Given the description of an element on the screen output the (x, y) to click on. 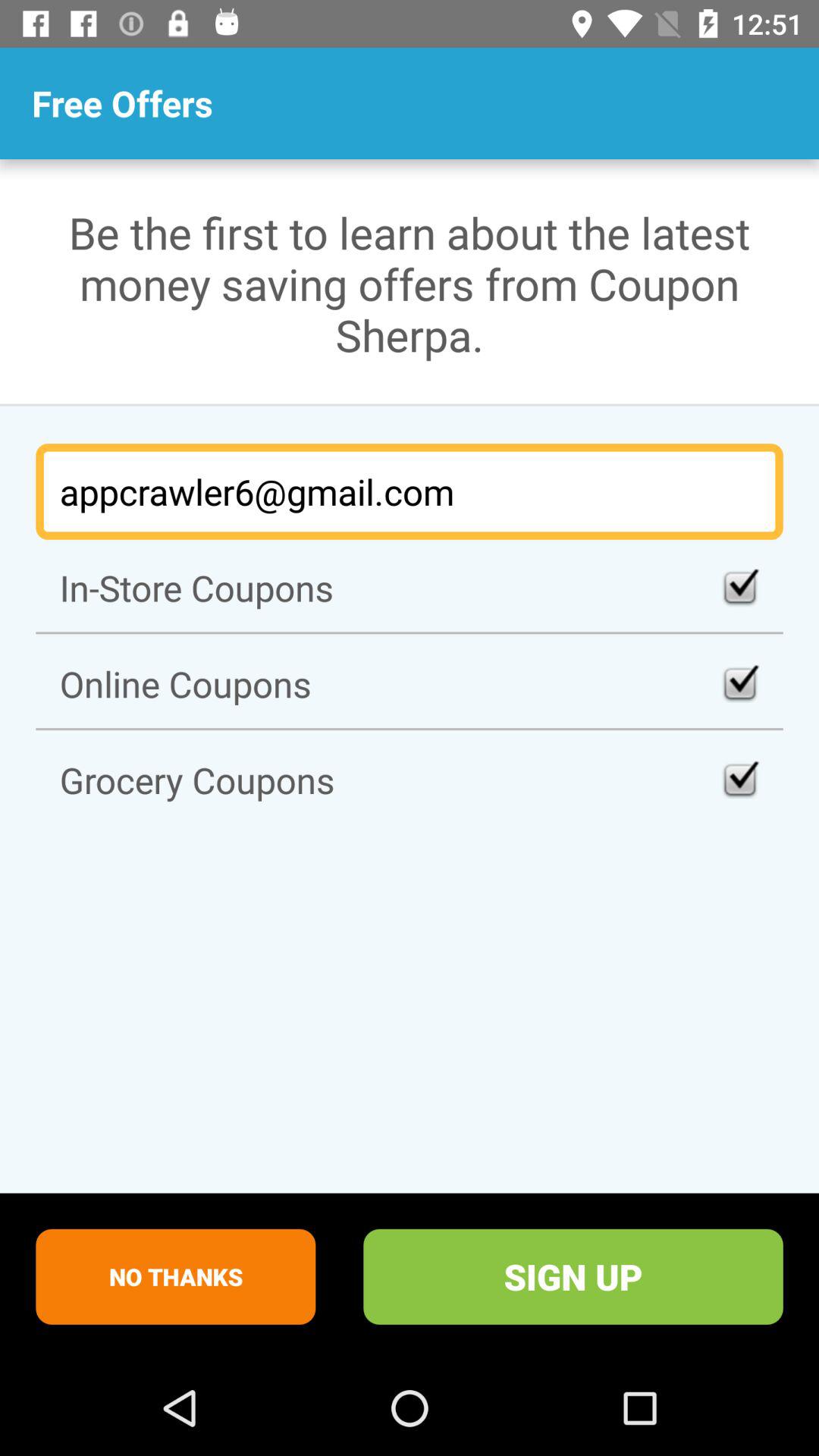
turn off the item above no thanks (409, 779)
